Given the description of an element on the screen output the (x, y) to click on. 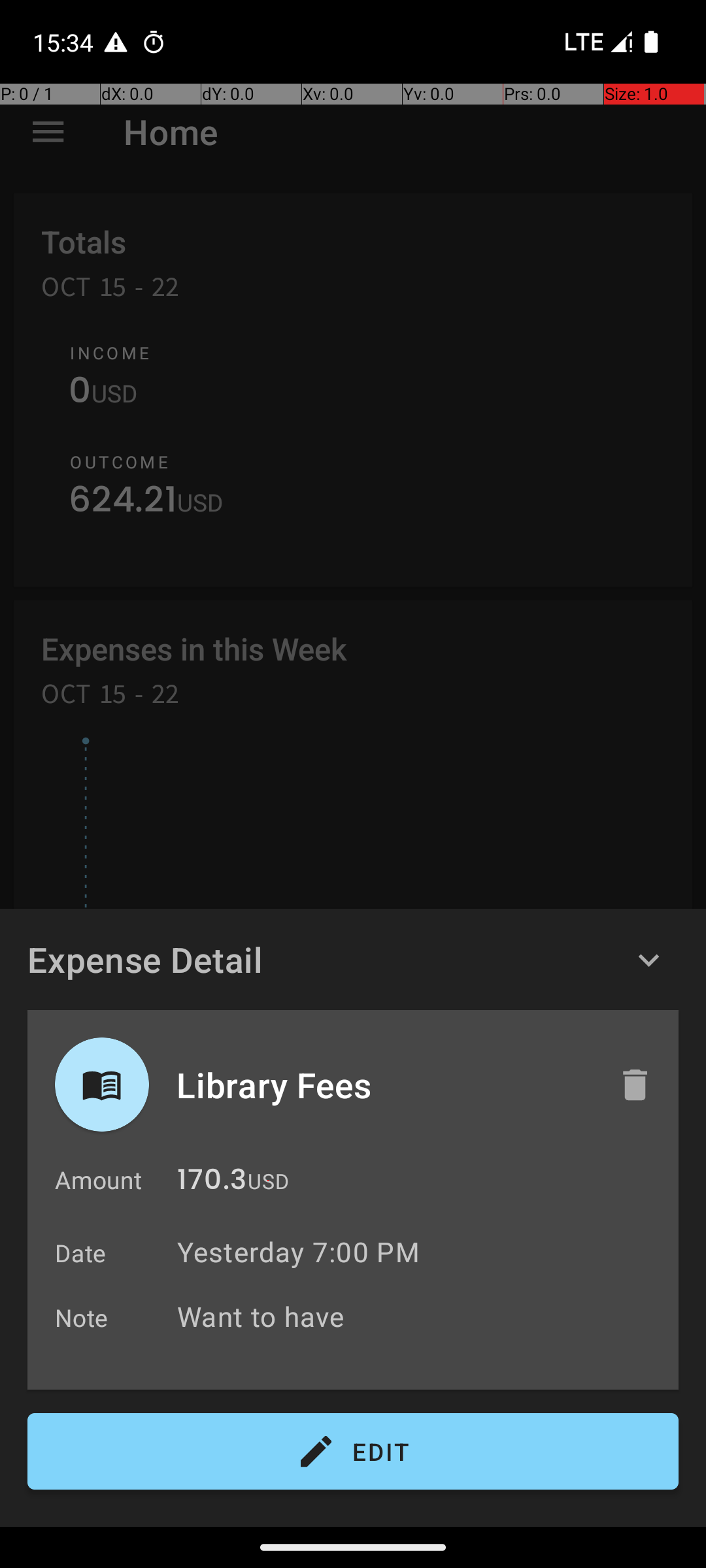
Library Fees Element type: android.widget.TextView (383, 1084)
170.3 Element type: android.widget.TextView (211, 1182)
Yesterday 7:00 PM Element type: android.widget.TextView (298, 1251)
Want to have Element type: android.widget.TextView (420, 1315)
